Given the description of an element on the screen output the (x, y) to click on. 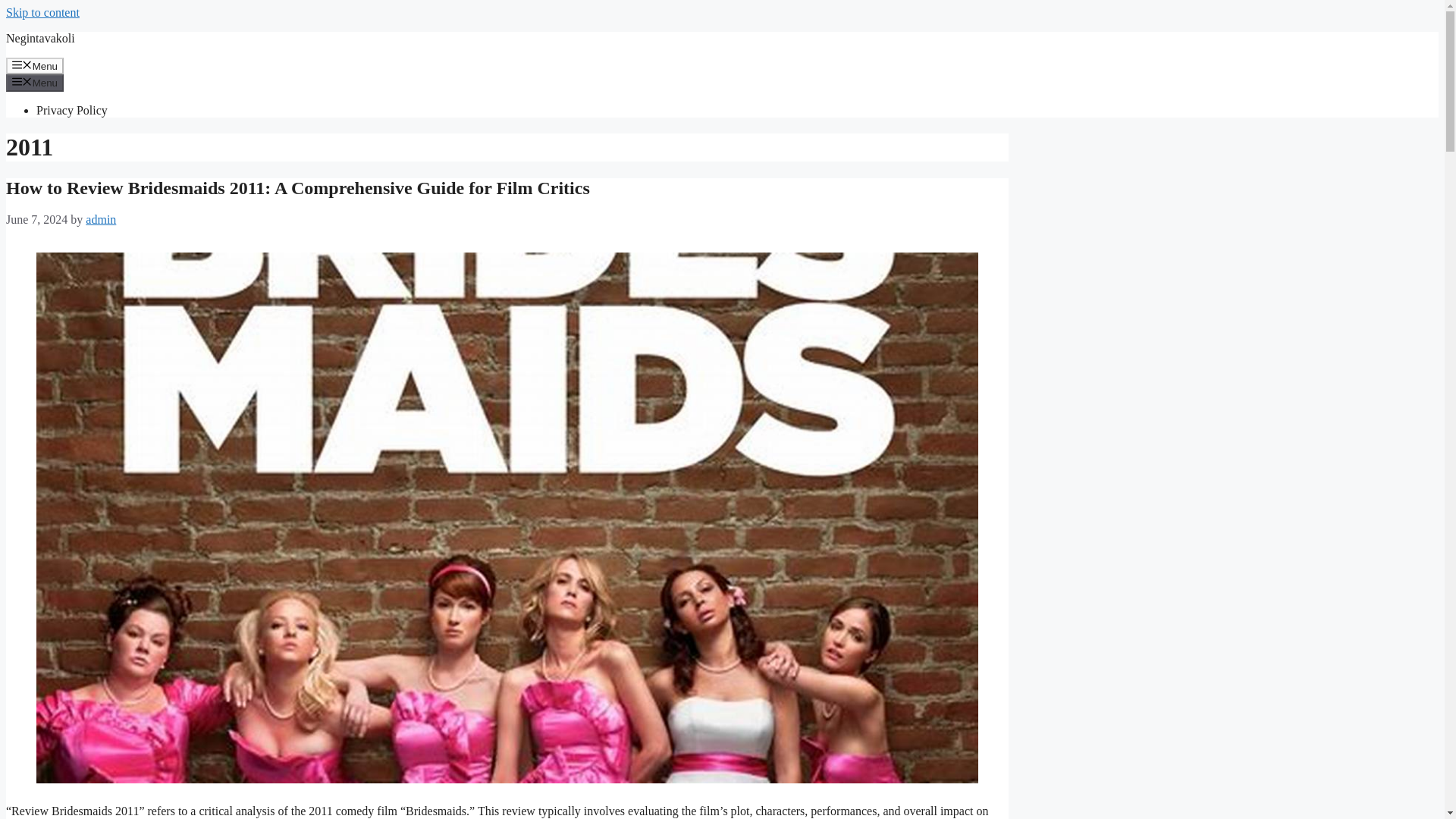
Skip to content (42, 11)
View all posts by admin (100, 219)
Privacy Policy (71, 110)
Negintavakoli (40, 38)
Menu (34, 65)
admin (100, 219)
Skip to content (42, 11)
Menu (34, 82)
